Given the description of an element on the screen output the (x, y) to click on. 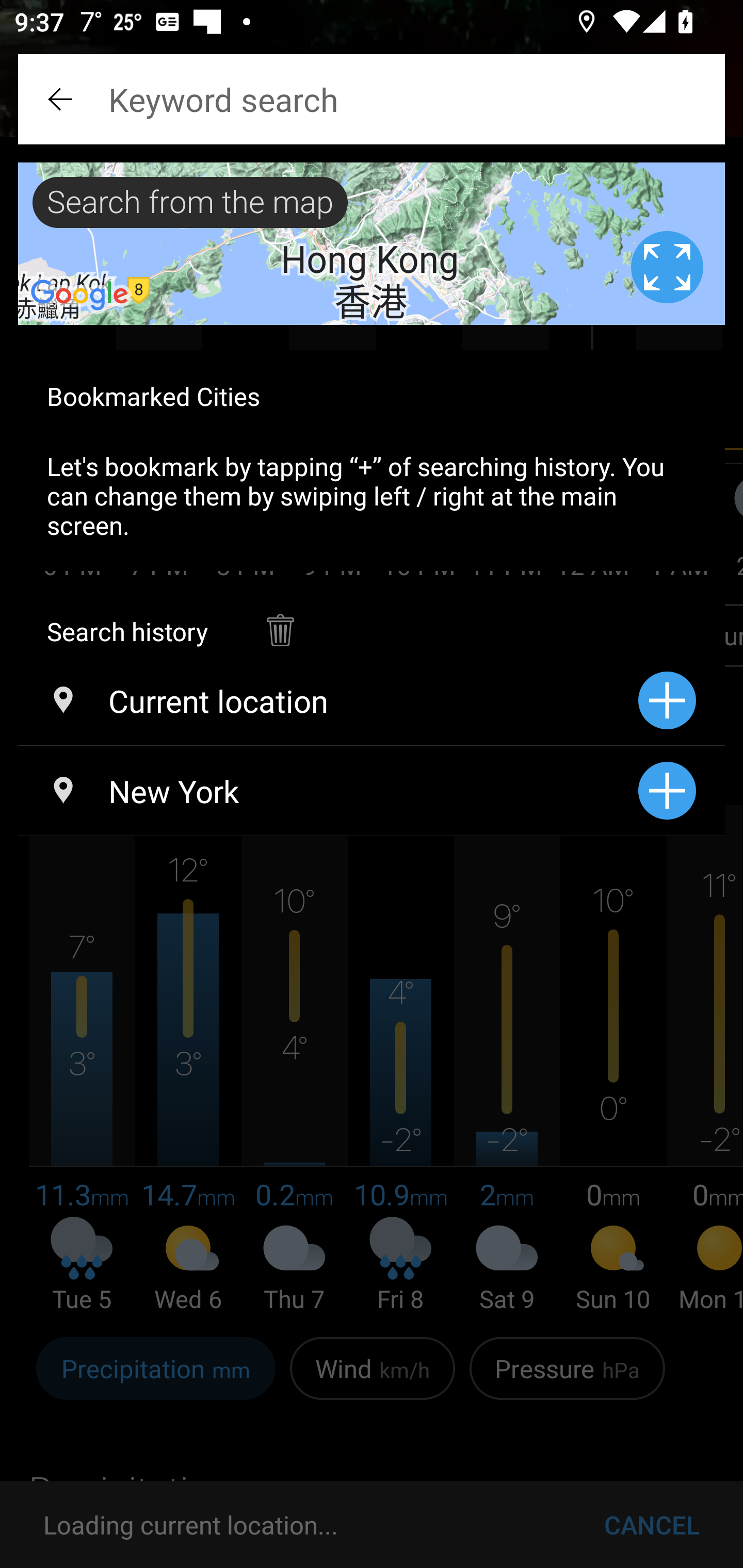
Keyword search (371, 99)
 (61, 99)
 (280, 619)
 Current location (327, 700)
 New York (327, 790)
